Given the description of an element on the screen output the (x, y) to click on. 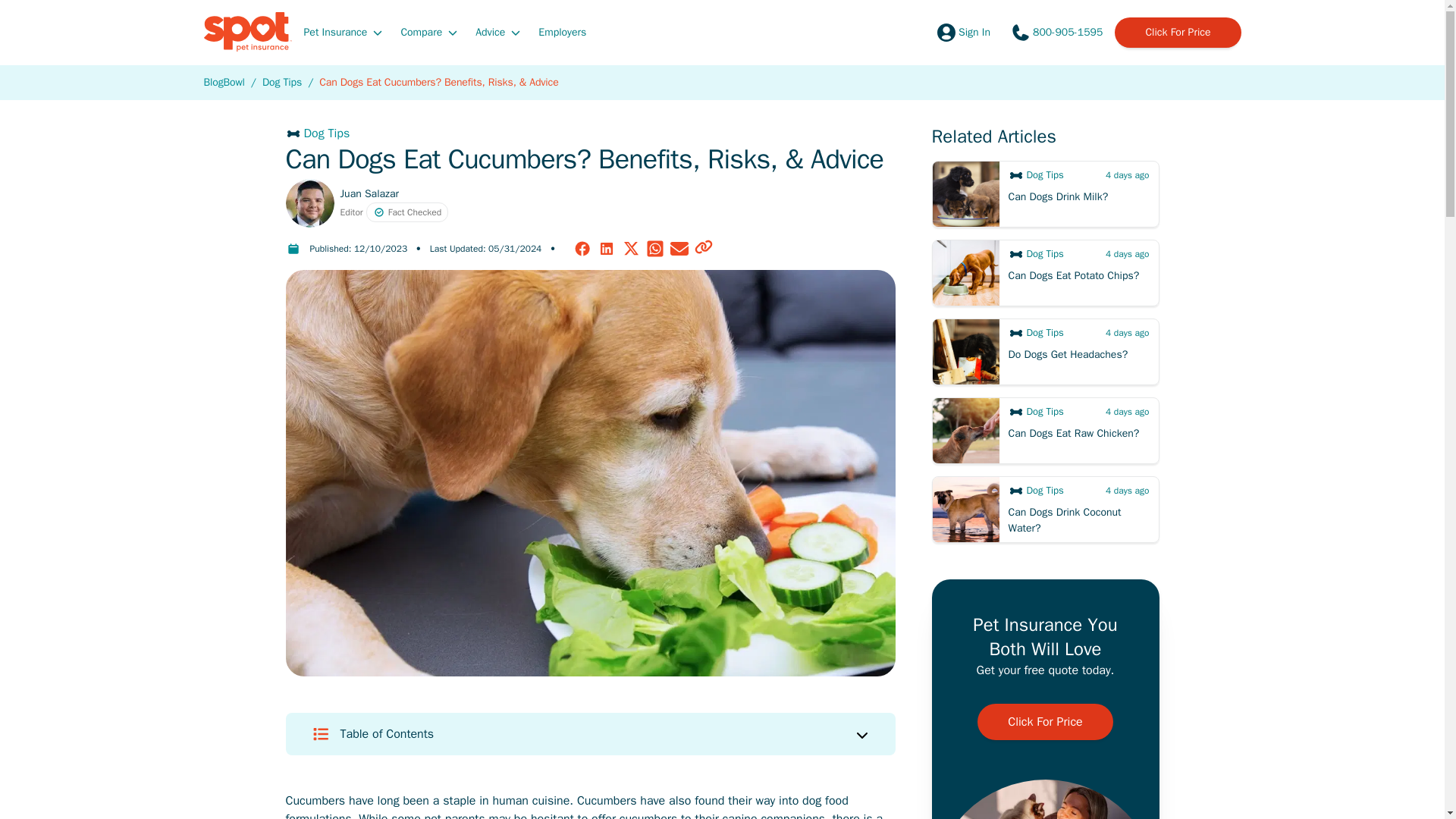
BlogBowl (223, 82)
Do Dogs Get Headaches? (1044, 351)
Dog Tips (281, 82)
Juan Salazar (368, 193)
Dog Tips (590, 133)
Click For Price (1177, 31)
Can Dogs Drink Coconut Water? (1044, 508)
Can Dogs Eat Potato Chips?  (1044, 272)
Sign In (962, 31)
Sign in to the Member Center (962, 31)
Employers (562, 31)
800-905-1595 (1055, 31)
800-905-1595 (1055, 31)
Can Dogs Eat Raw Chicken?  (1044, 430)
Table of Contents (590, 733)
